Given the description of an element on the screen output the (x, y) to click on. 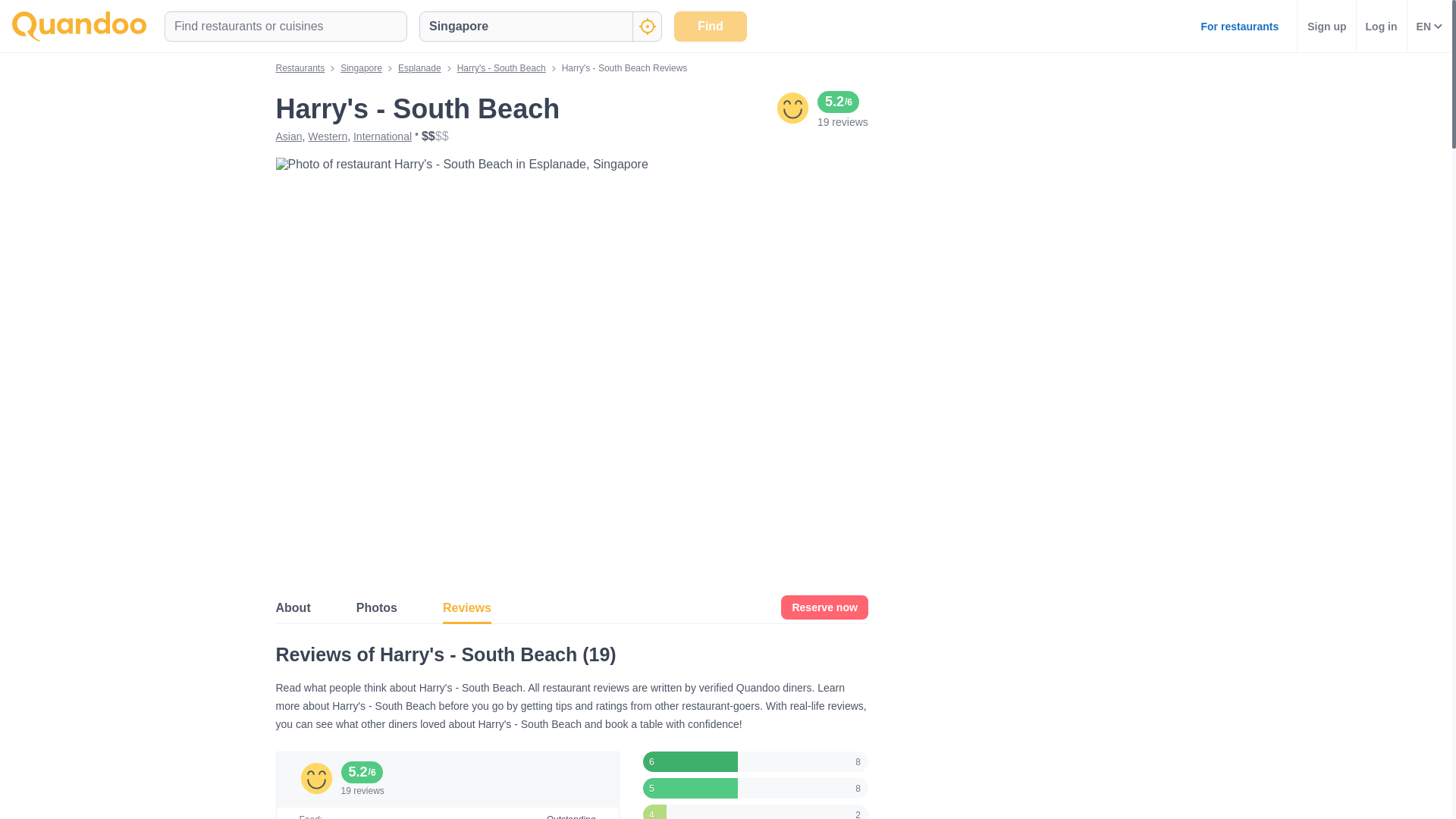
Log in (1381, 25)
For restaurants (1239, 25)
Restaurants (300, 68)
Reserve now (823, 607)
Find (710, 25)
Reviews (467, 607)
Harry's - South Beach (501, 68)
Western (327, 136)
Sign up (1326, 25)
Photos (376, 607)
Singapore (360, 68)
About (293, 607)
19 reviews (841, 122)
Asian (289, 136)
International (382, 136)
